Given the description of an element on the screen output the (x, y) to click on. 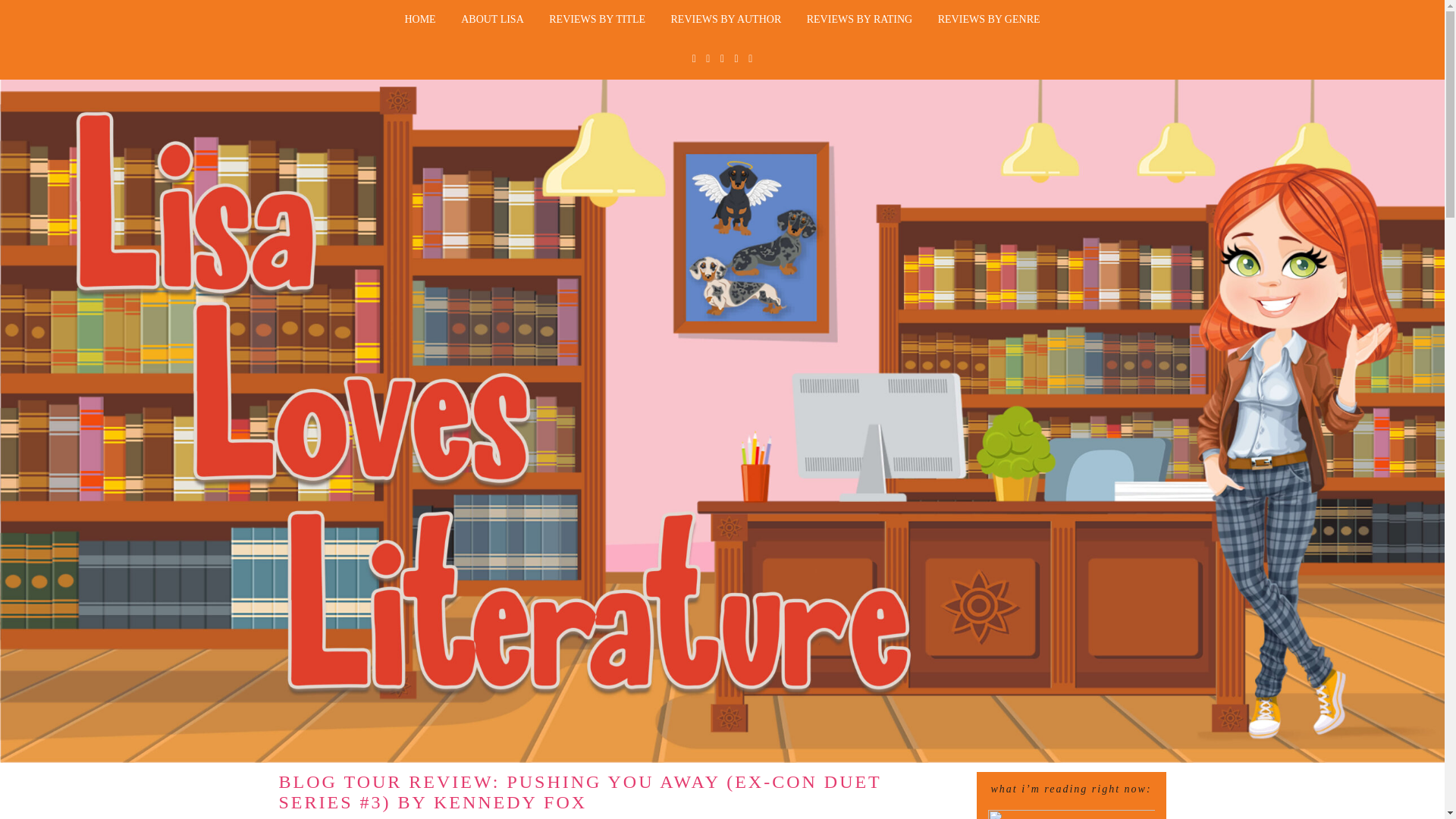
REVIEWS BY GENRE (988, 19)
REVIEWS BY TITLE (596, 19)
LISA MANDINA (509, 817)
ABOUT LISA (492, 19)
View all posts in Blog Tour (609, 817)
REVIEWS BY RATING (858, 19)
REVIEWS BY AUTHOR (726, 19)
BLOG TOUR (609, 817)
0 COMMENTS (749, 817)
REVIEW (675, 817)
